Given the description of an element on the screen output the (x, y) to click on. 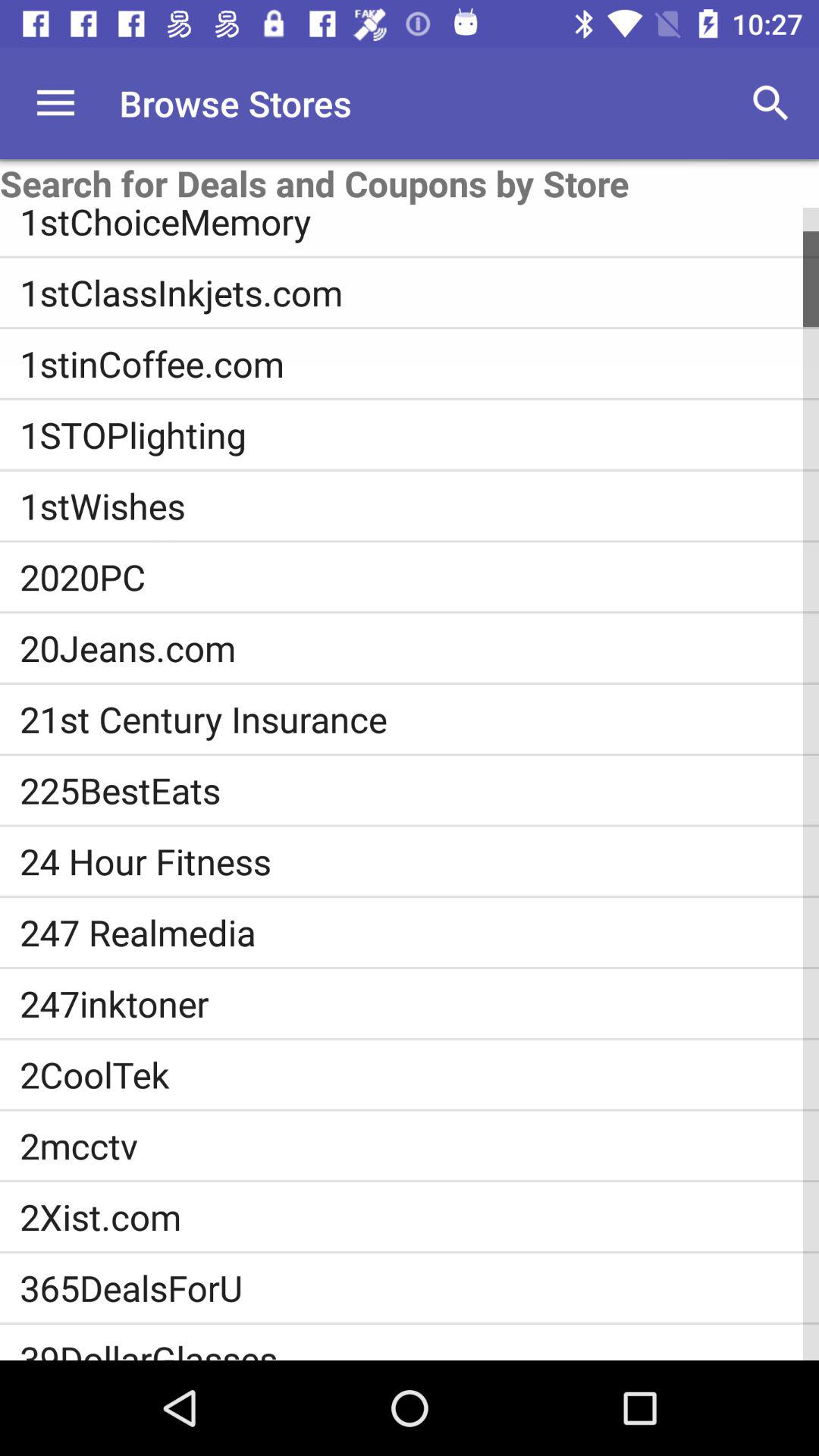
turn on item above the 1stwishes item (419, 434)
